Given the description of an element on the screen output the (x, y) to click on. 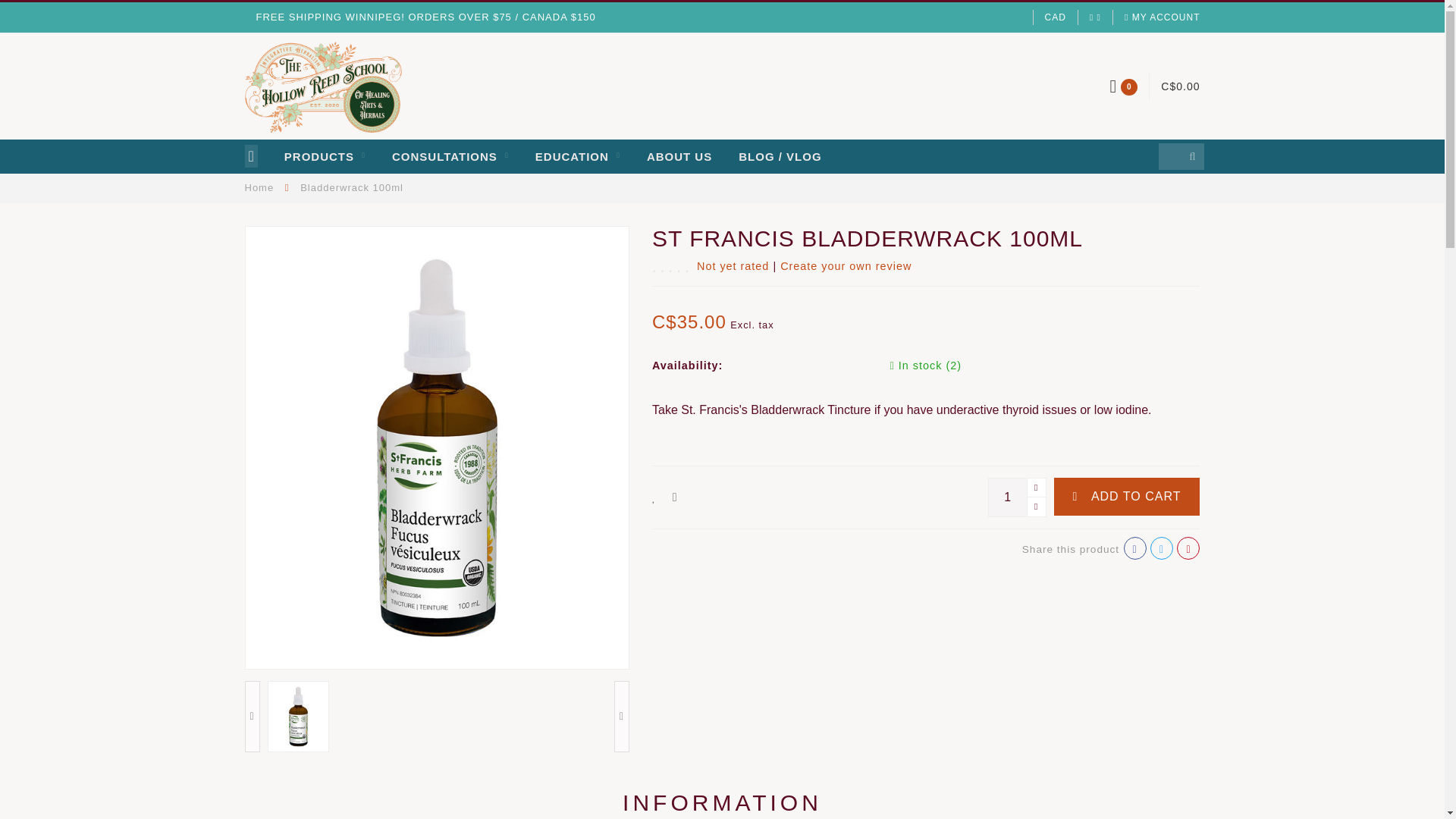
CAD (1055, 17)
Home (258, 187)
MY ACCOUNT (1161, 17)
PRODUCTS (324, 156)
1 (1016, 497)
